Given the description of an element on the screen output the (x, y) to click on. 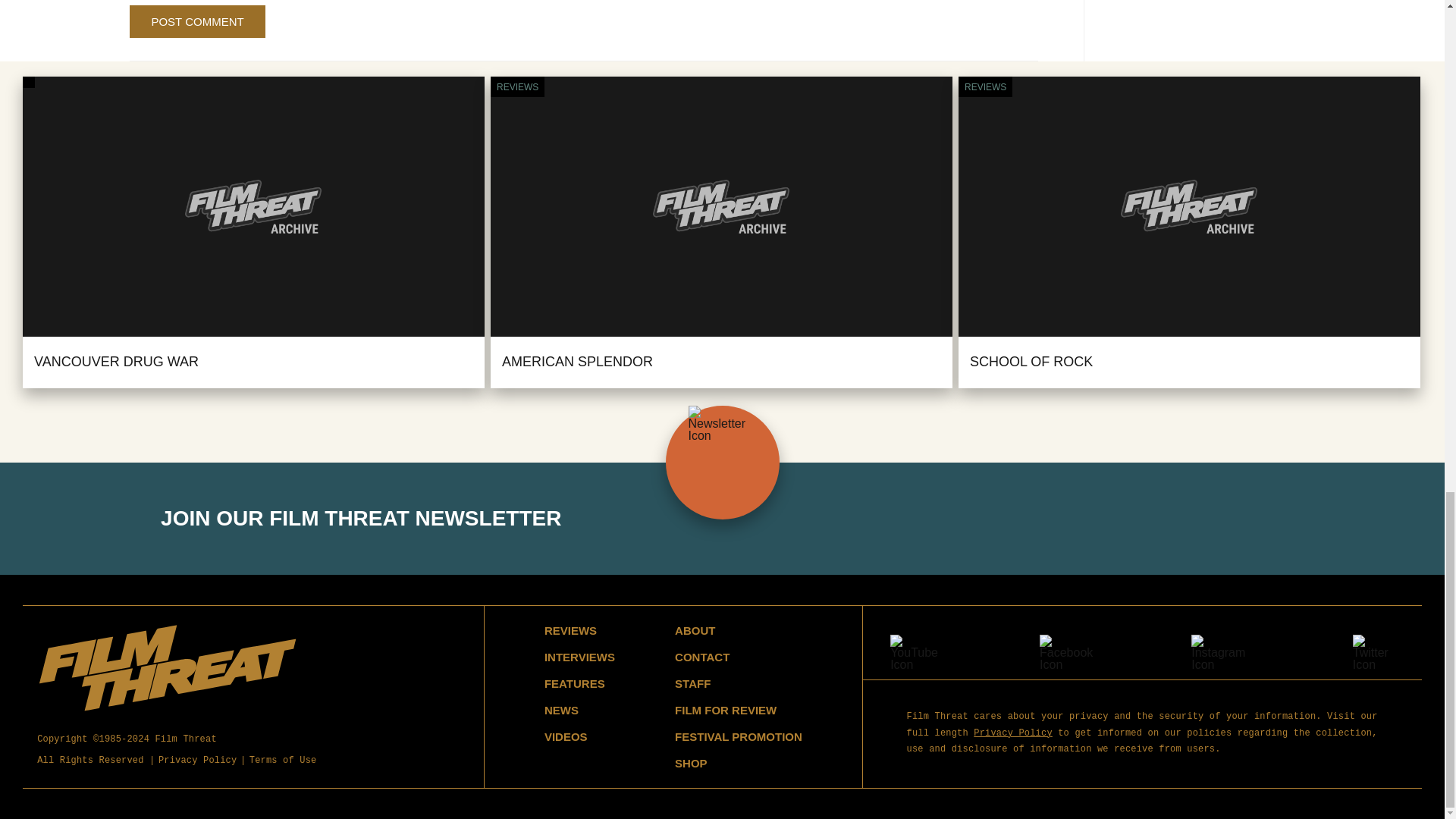
REVIEWS (517, 86)
INTERVIEWS (579, 656)
AMERICAN SPLENDOR (577, 361)
Post Comment (196, 20)
SCHOOL OF ROCK (1031, 361)
Reviews (984, 86)
Reviews (517, 86)
REVIEWS (570, 630)
Privacy Policy (197, 760)
Post Comment (196, 20)
